Given the description of an element on the screen output the (x, y) to click on. 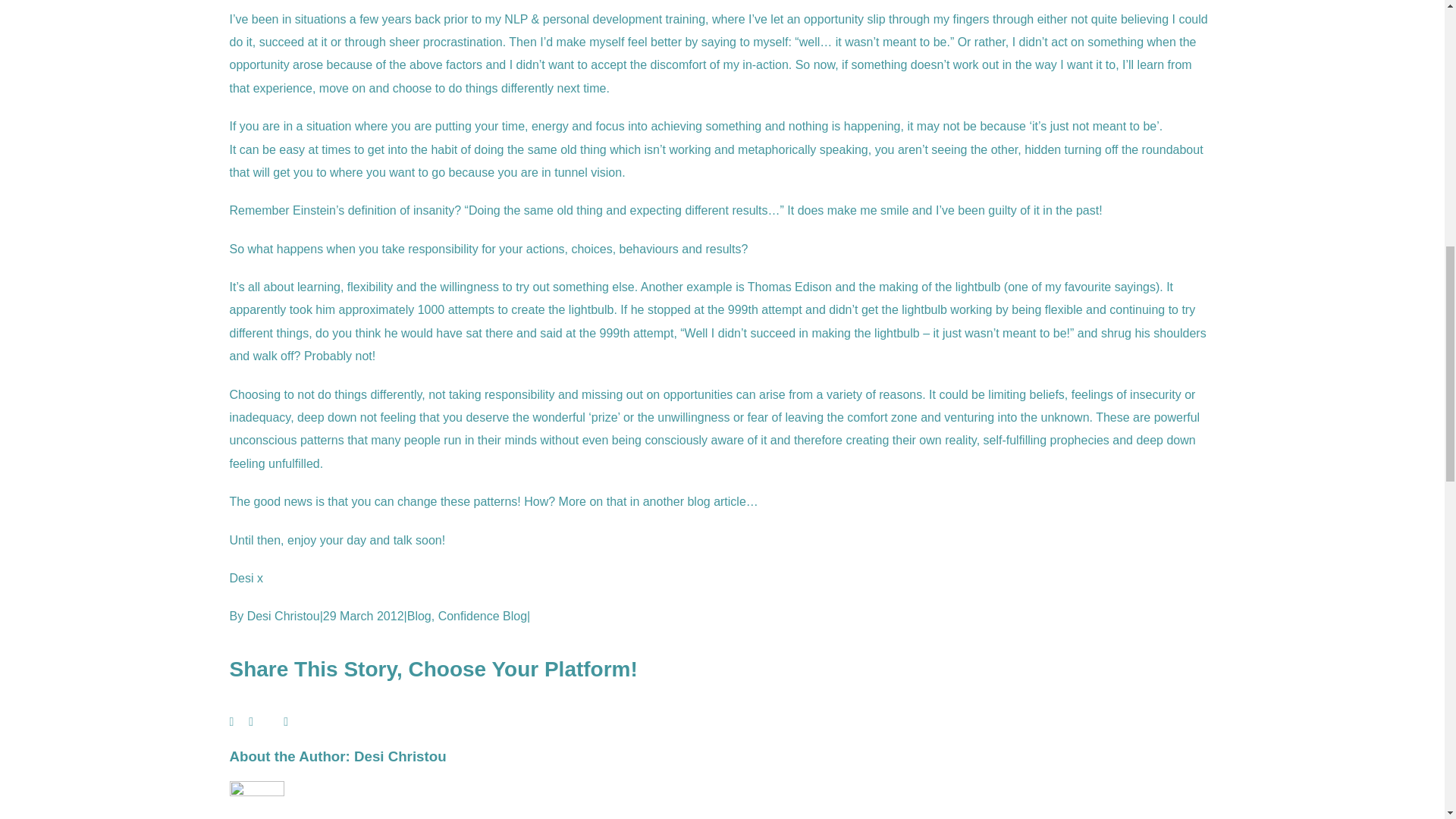
Posts by Desi Christou (399, 756)
Posts by Desi Christou (283, 615)
